Given the description of an element on the screen output the (x, y) to click on. 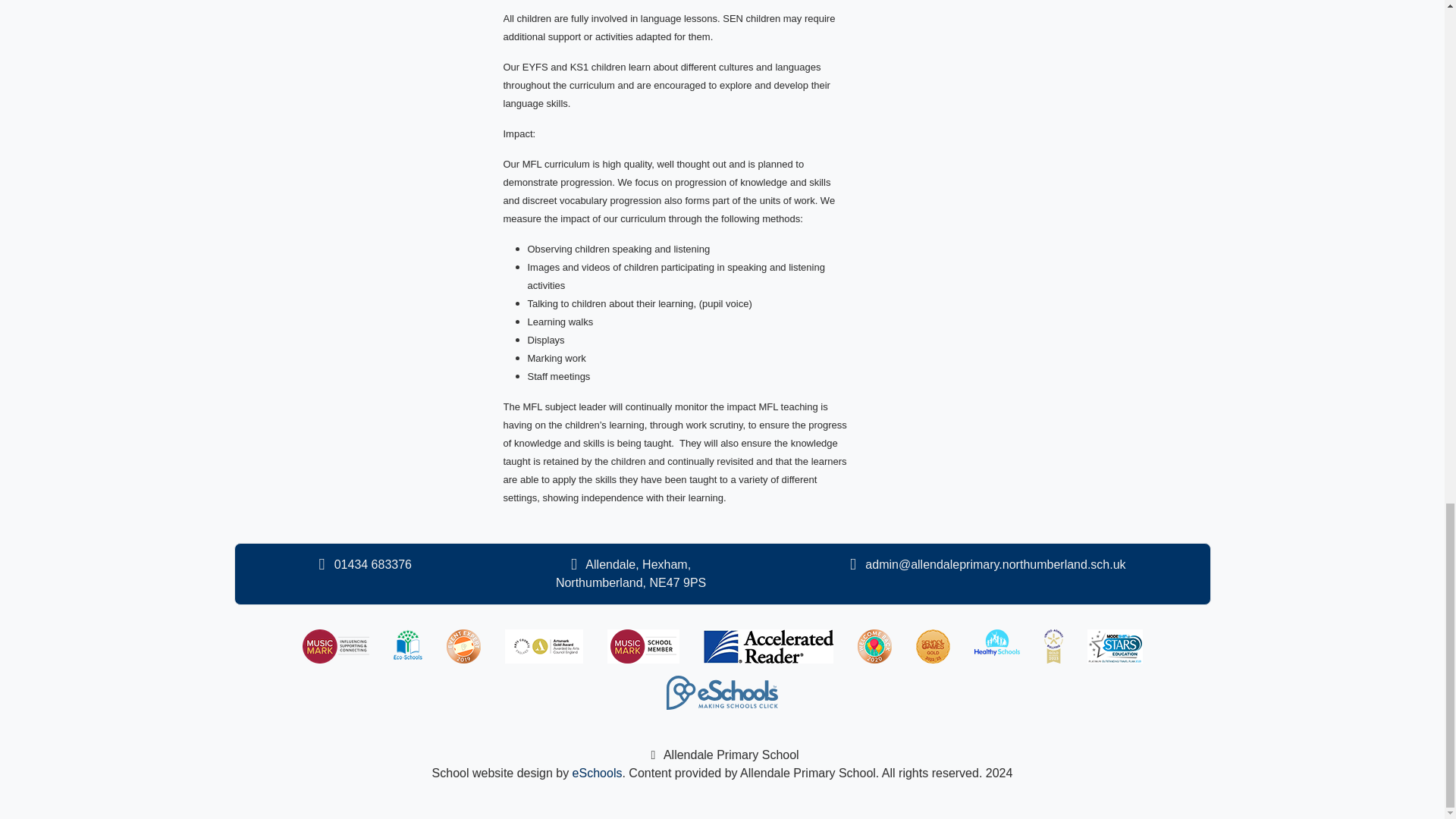
Accelerated Reader (767, 646)
Music Mark (642, 646)
Artsmark Gold Award (544, 646)
Music Mark (334, 646)
Eco-Schools (407, 644)
Healthy Schools (996, 644)
Modeshift Platinum 2023 (1114, 646)
